Given the description of an element on the screen output the (x, y) to click on. 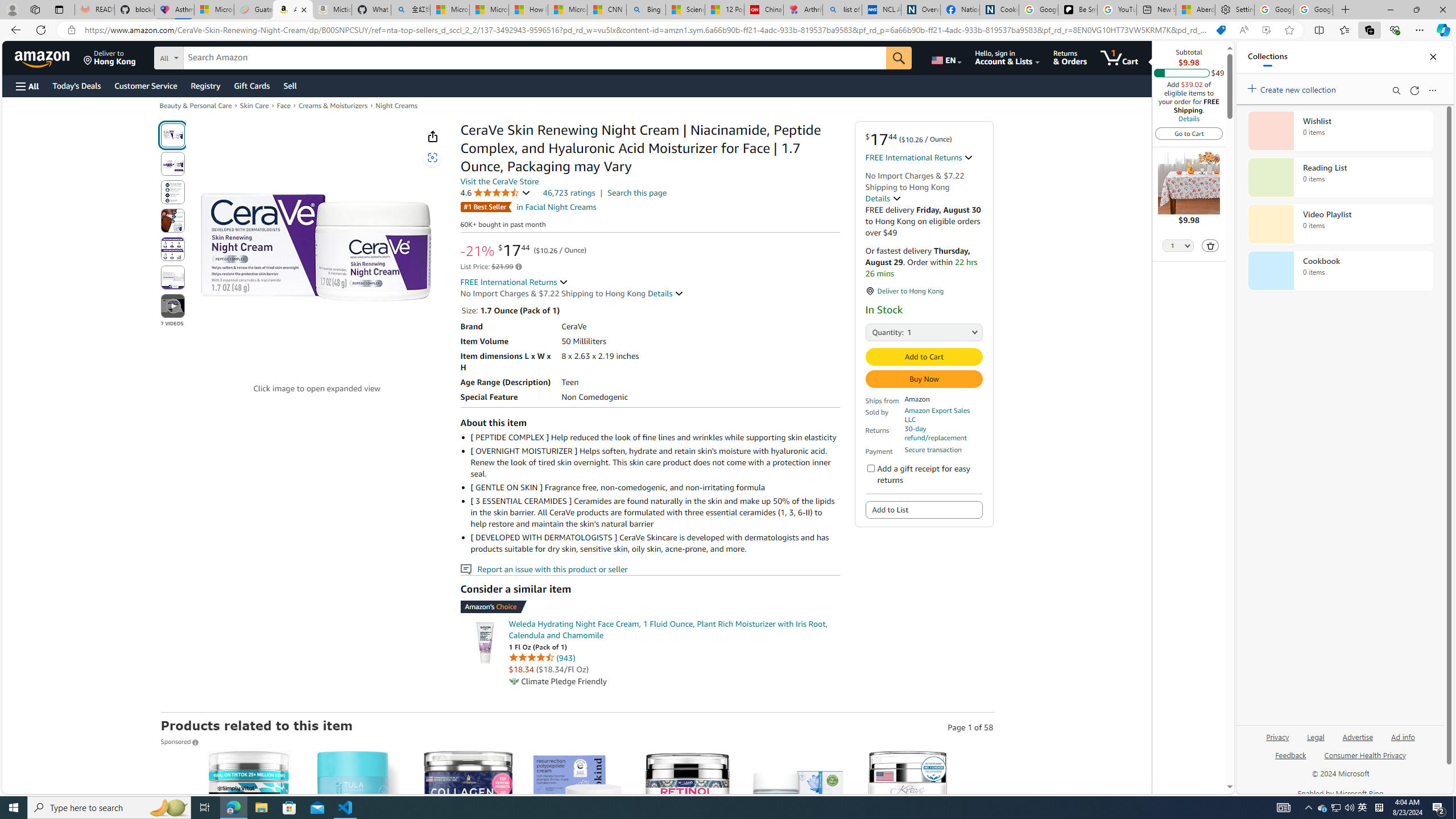
Hello, sign in Account & Lists (1007, 57)
Report an issue with this product or seller (465, 569)
4.6 4.6 out of 5 stars (494, 192)
#1 Best Seller in Facial Night Creams (528, 207)
Climate Pledge Friendly (513, 681)
Face (283, 105)
Face (283, 105)
Reading List collection, 0 items (1339, 177)
Creams & Moisturizers (333, 105)
Beauty & Personal Care (194, 105)
